Given the description of an element on the screen output the (x, y) to click on. 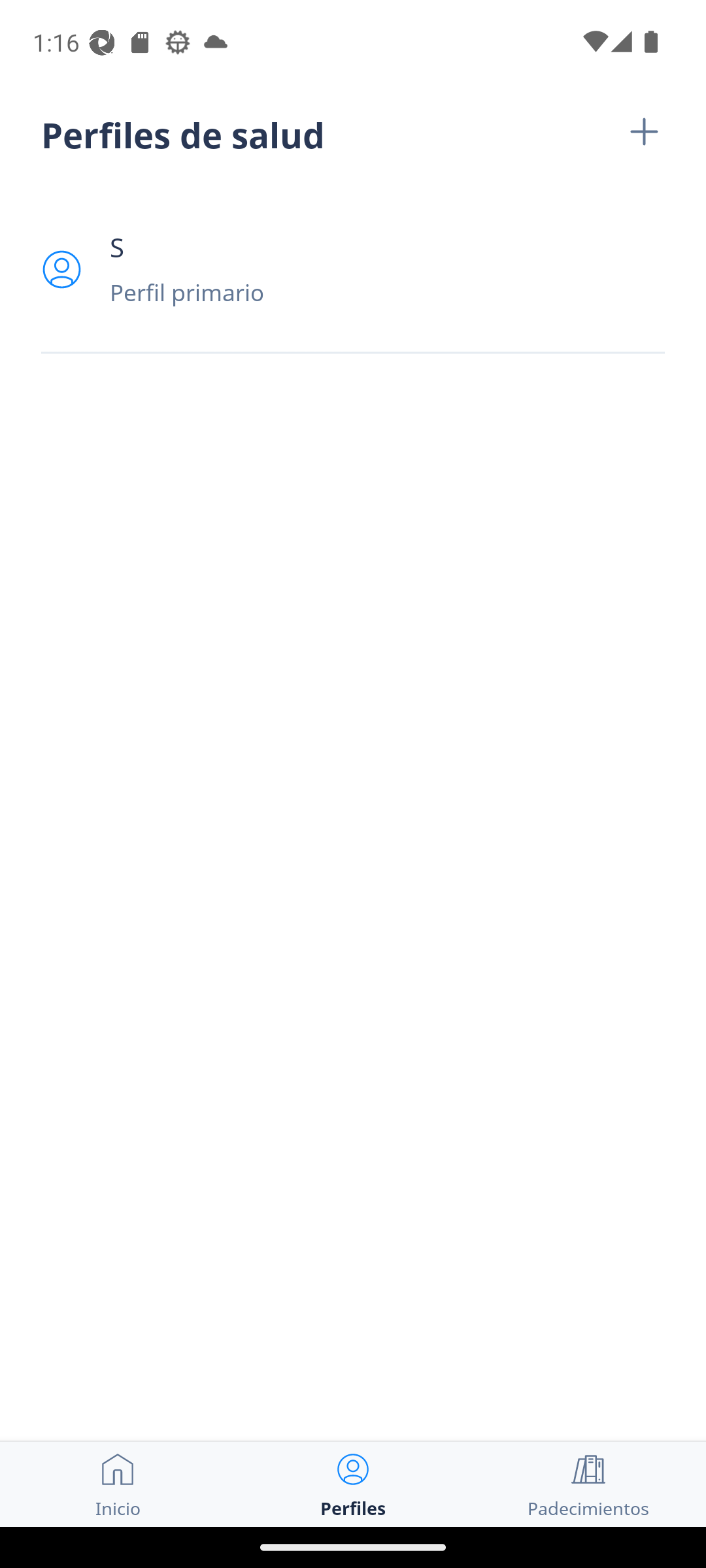
S Perfil primario (352, 269)
Inicio (117, 1484)
Perfiles (352, 1484)
Padecimientos (588, 1484)
